Given the description of an element on the screen output the (x, y) to click on. 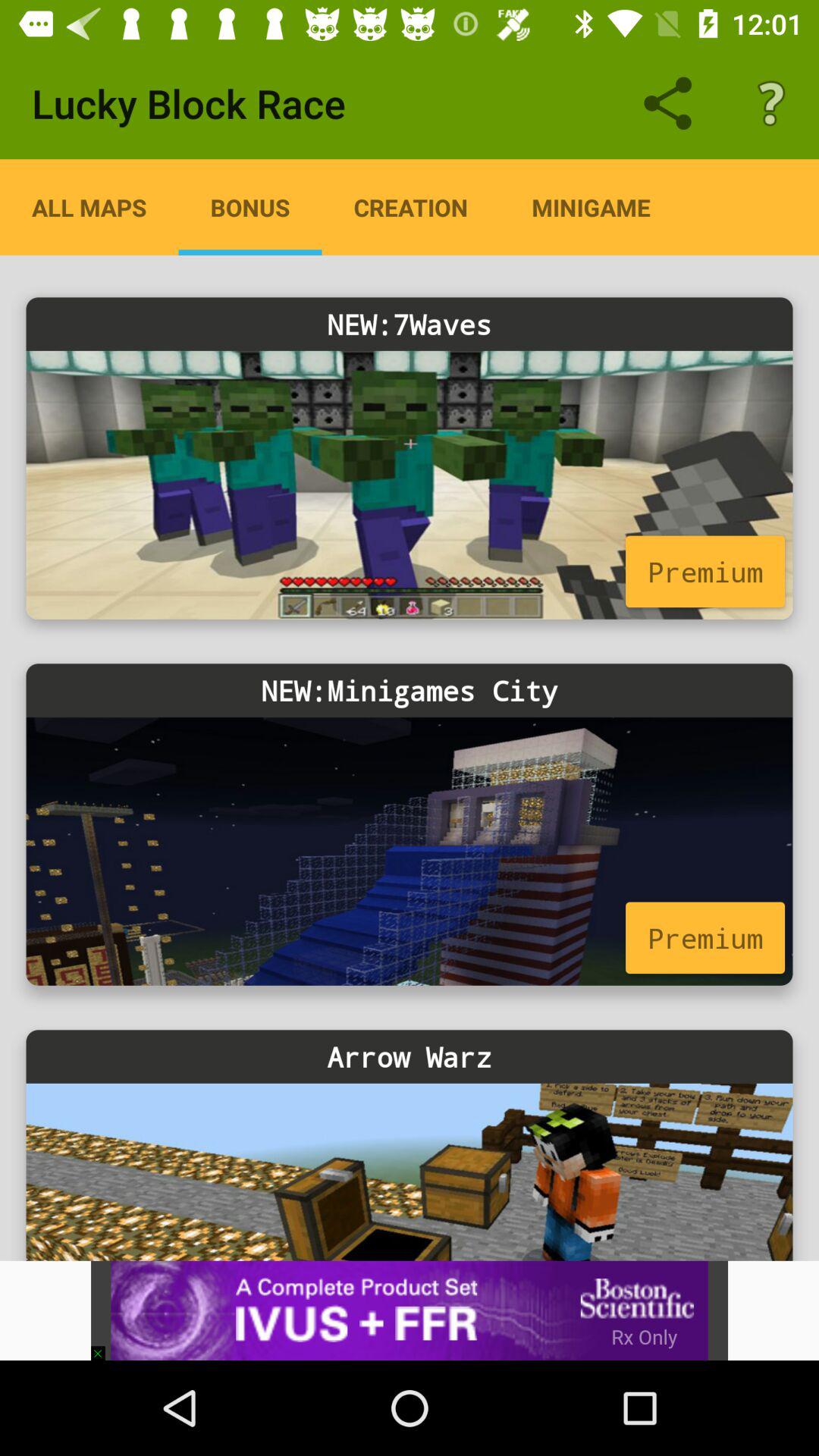
jump until bonus icon (249, 207)
